Given the description of an element on the screen output the (x, y) to click on. 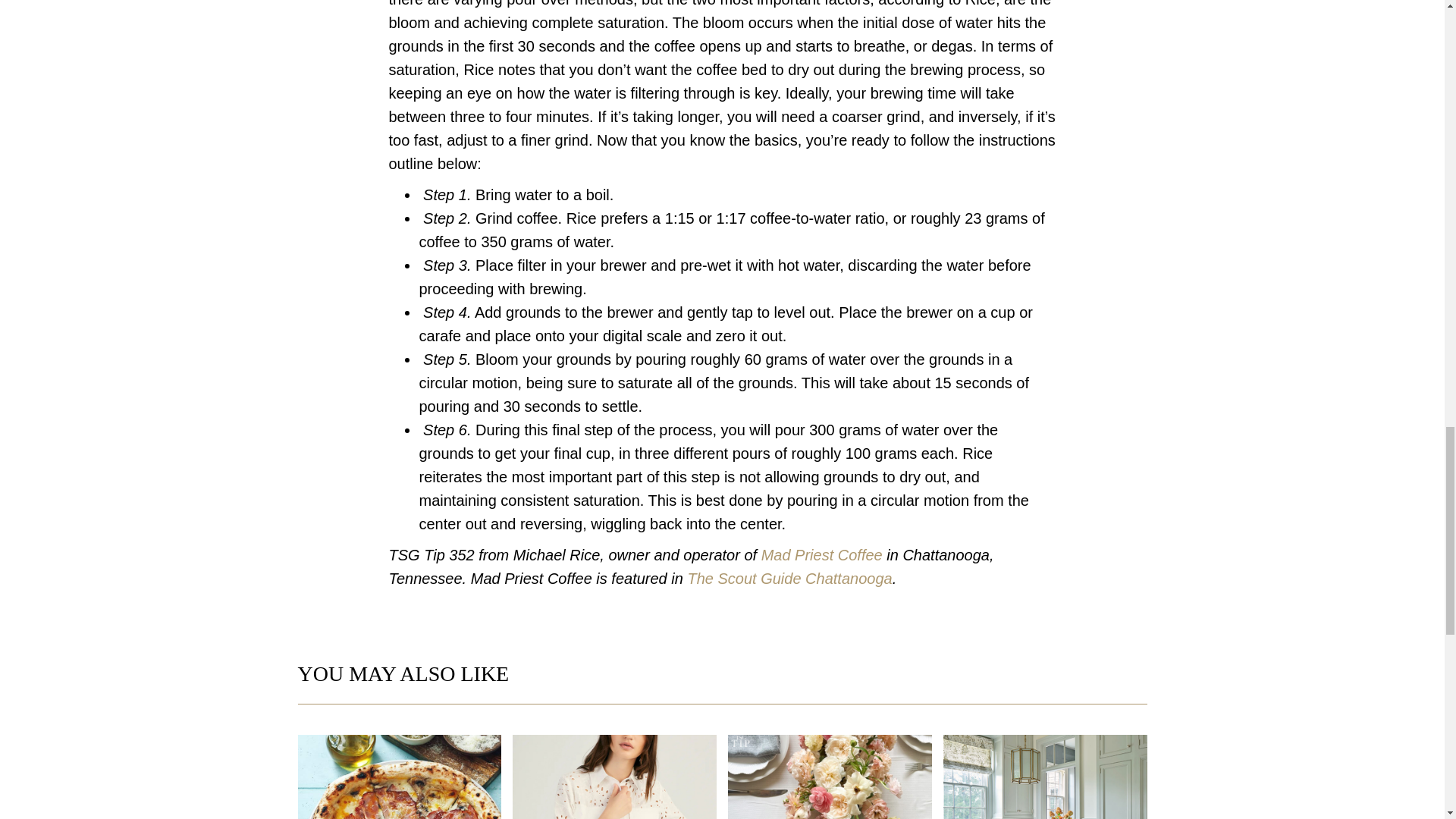
Outdoor Summer Party: Food and Drink Trends to Try Right Now (398, 776)
Summer Whites: The Best White Dresses for Warm Weather (614, 776)
Baby Your Blooms: Cut Flower Care (829, 776)
